Given the description of an element on the screen output the (x, y) to click on. 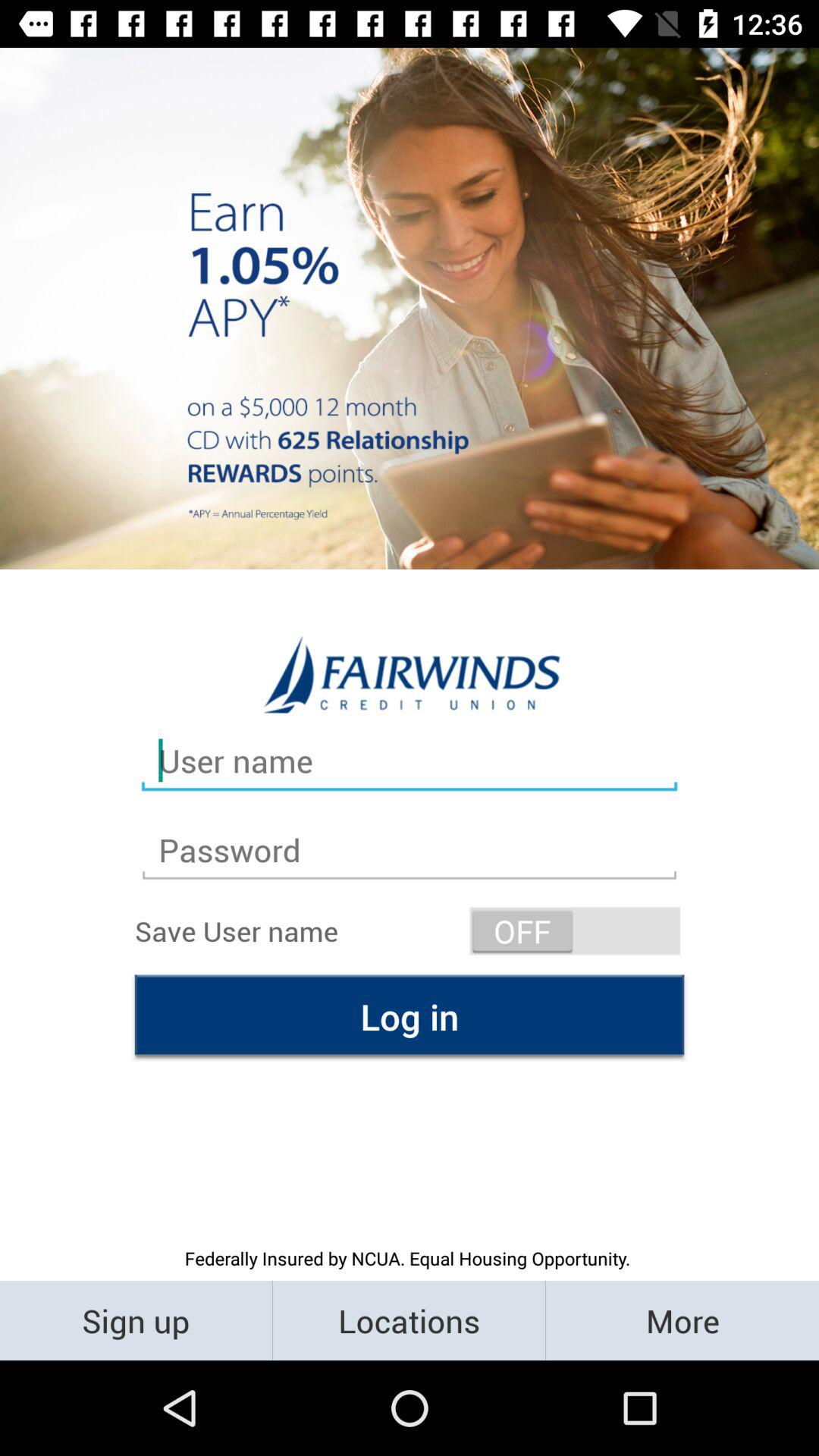
turn off the icon next to locations item (682, 1320)
